Given the description of an element on the screen output the (x, y) to click on. 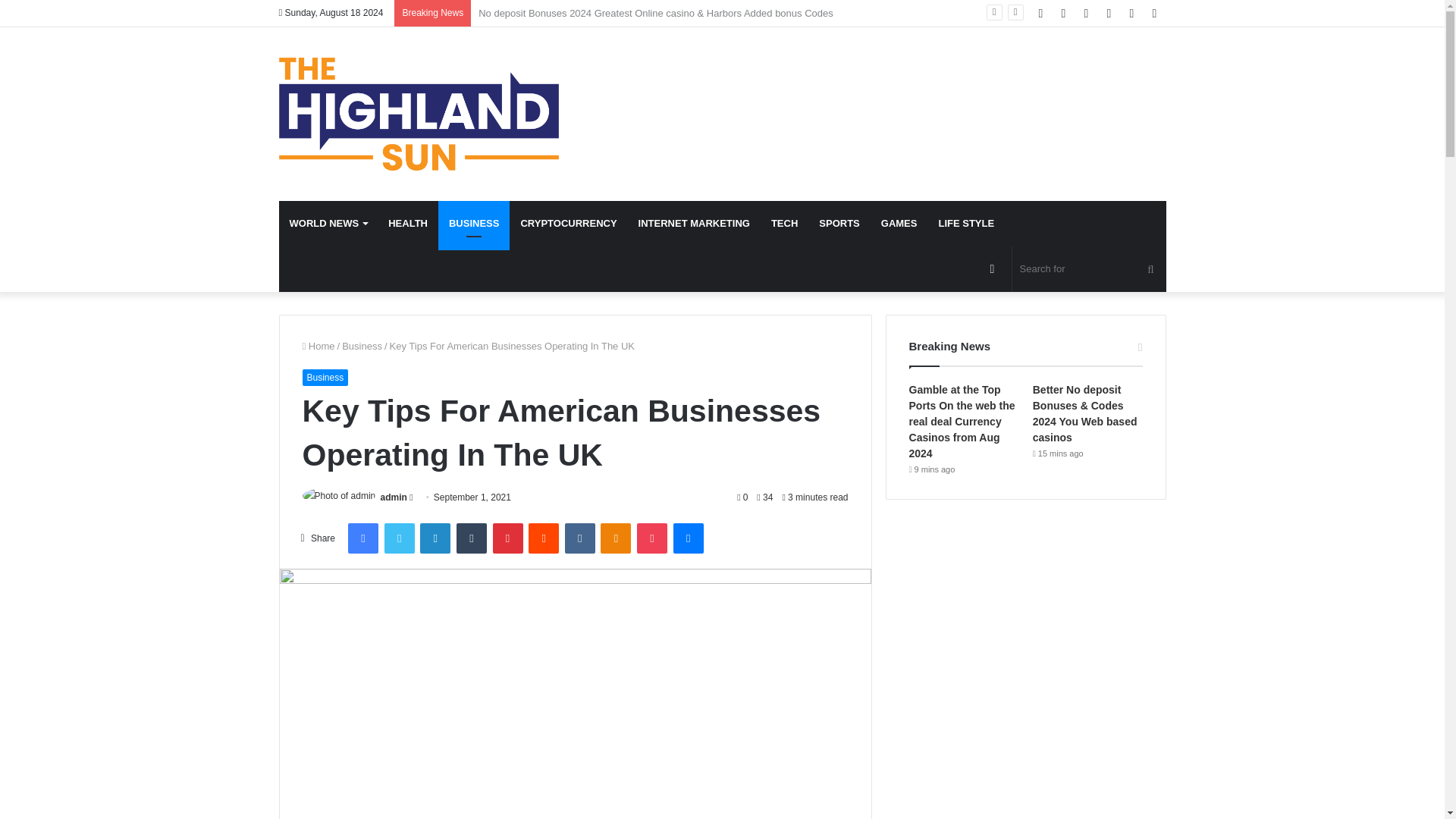
SPORTS (838, 223)
LinkedIn (434, 538)
CRYPTOCURRENCY (568, 223)
WORLD NEWS (328, 223)
Reddit (543, 538)
Twitter (399, 538)
TECH (784, 223)
GAMES (899, 223)
Home (317, 346)
Pinterest (507, 538)
